Given the description of an element on the screen output the (x, y) to click on. 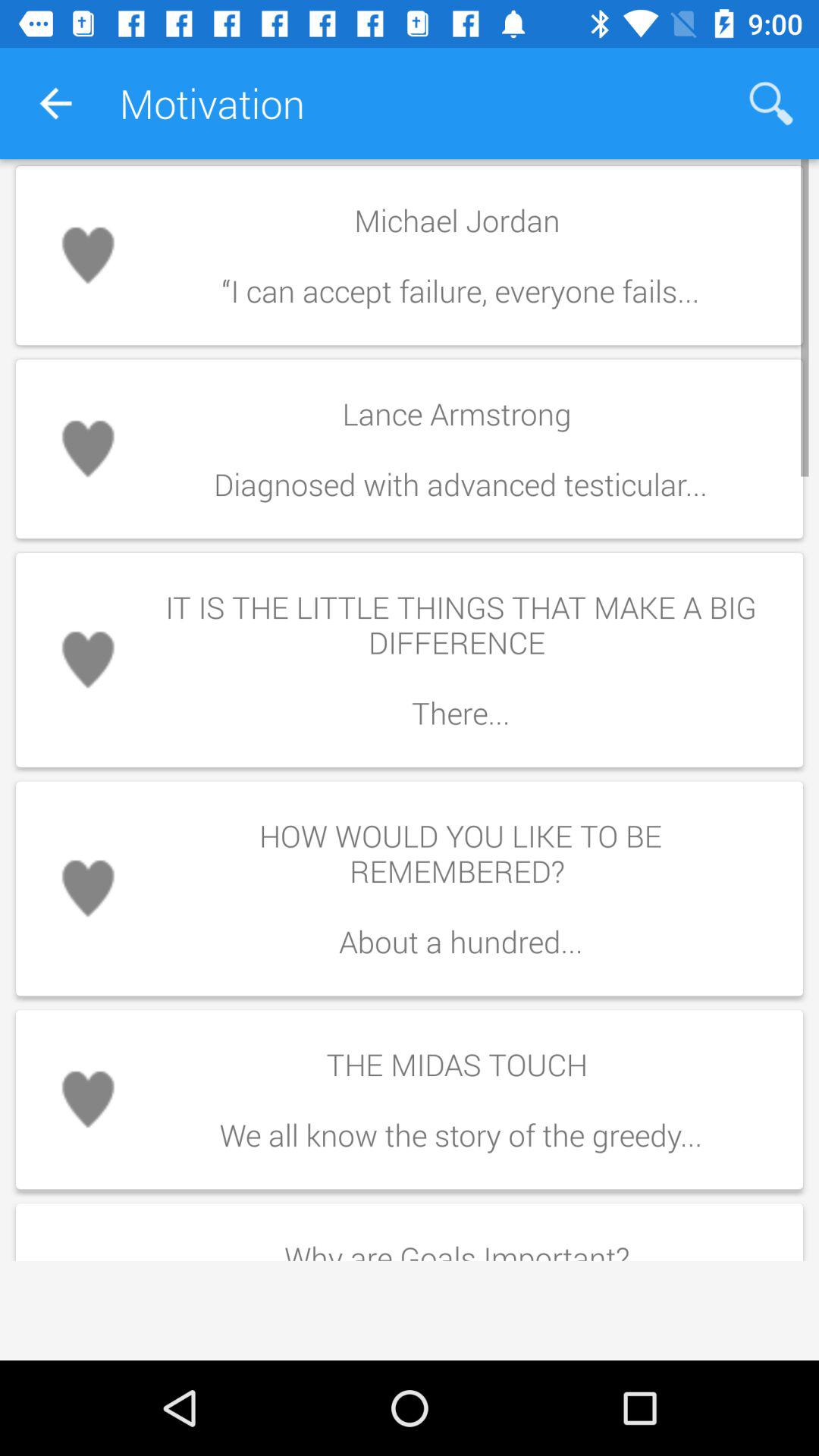
press the midas touch icon (460, 1099)
